Given the description of an element on the screen output the (x, y) to click on. 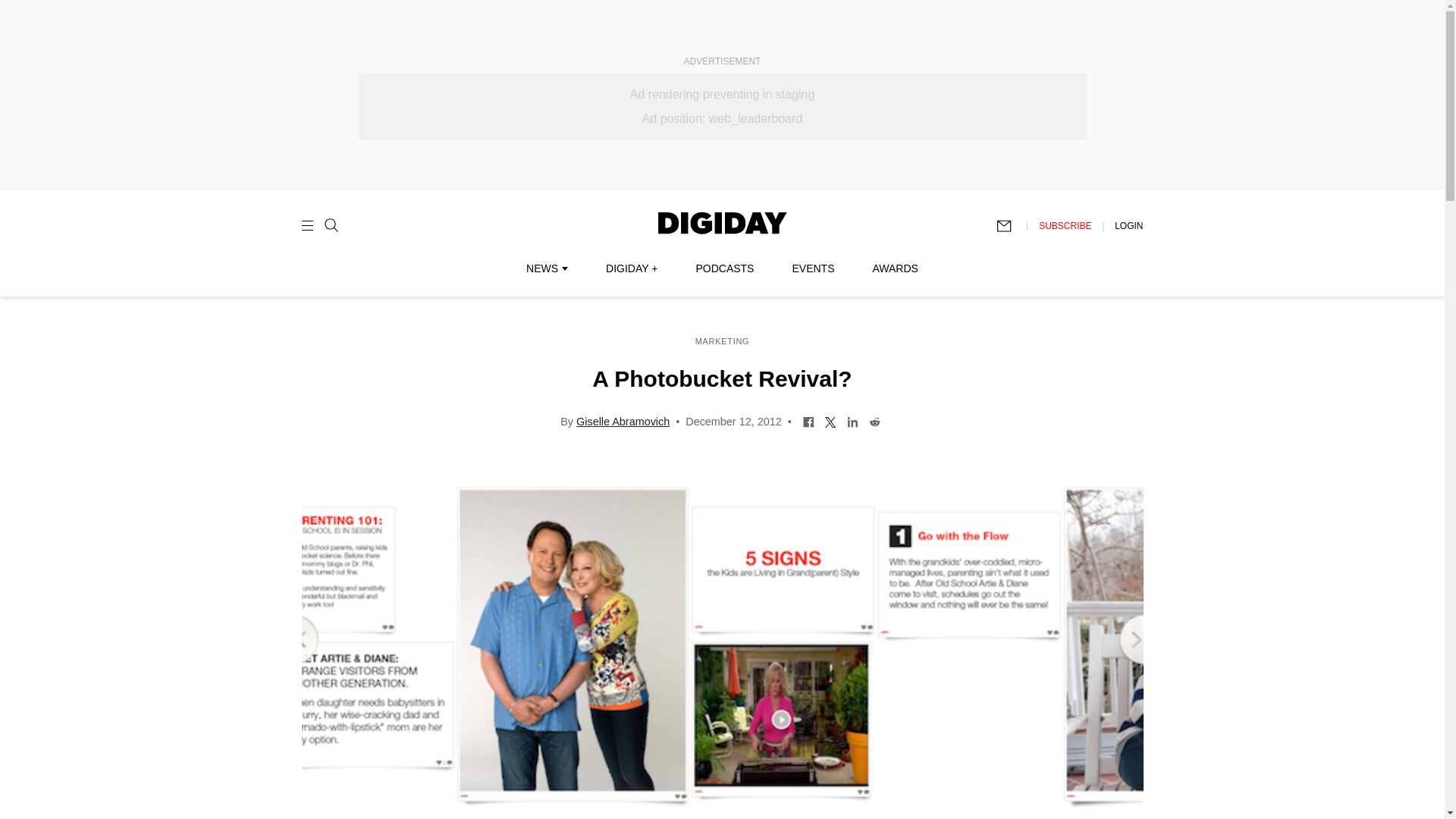
NEWS (546, 267)
PODCASTS (725, 267)
LOGIN (1128, 225)
Share on Reddit (873, 420)
EVENTS (813, 267)
SUBSCRIBE (1064, 225)
AWARDS (894, 267)
Share on LinkedIn (852, 420)
Subscribe (1010, 225)
Share on Twitter (830, 420)
Share on Facebook (808, 420)
